Given the description of an element on the screen output the (x, y) to click on. 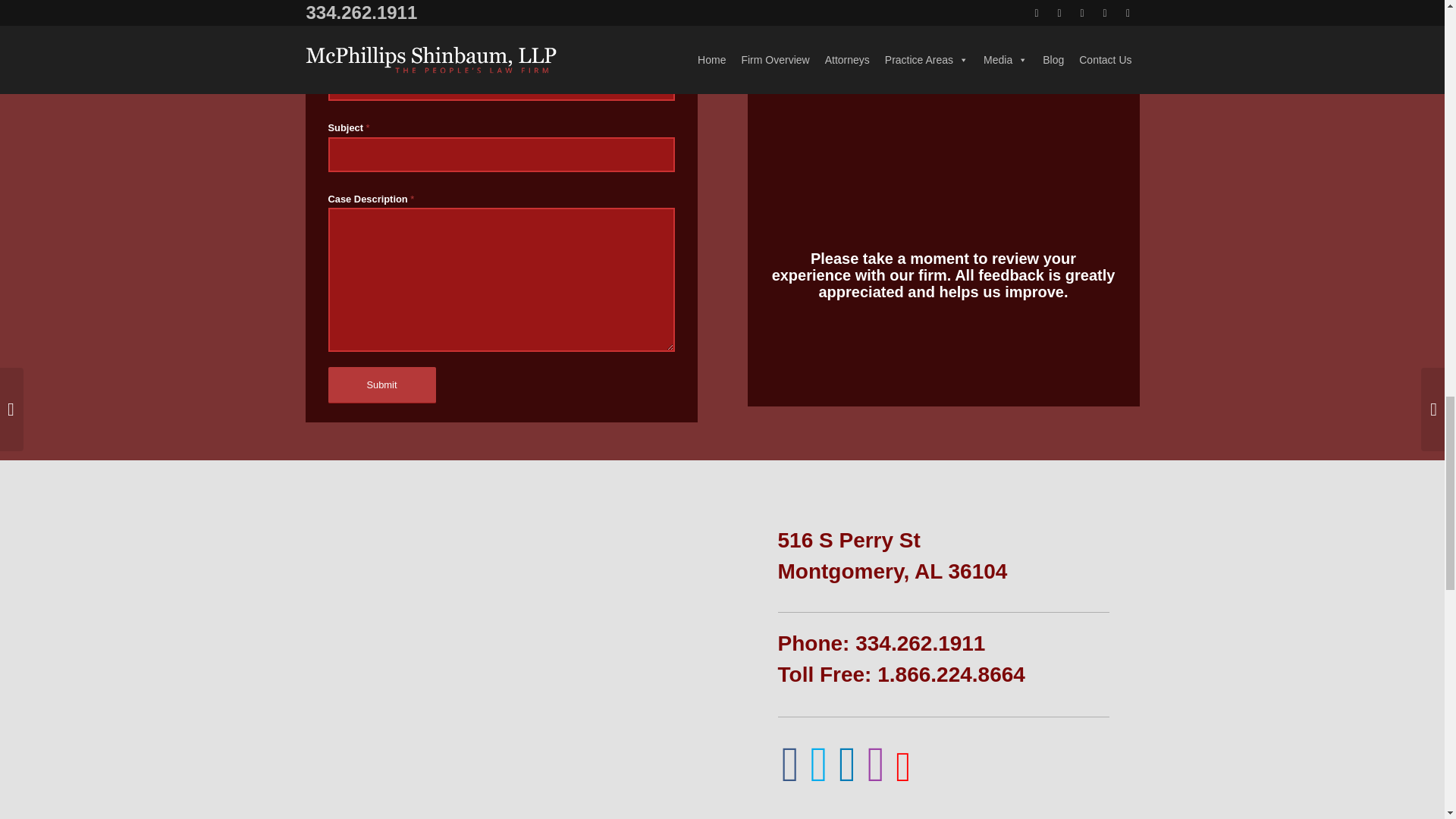
Submit (381, 384)
